Given the description of an element on the screen output the (x, y) to click on. 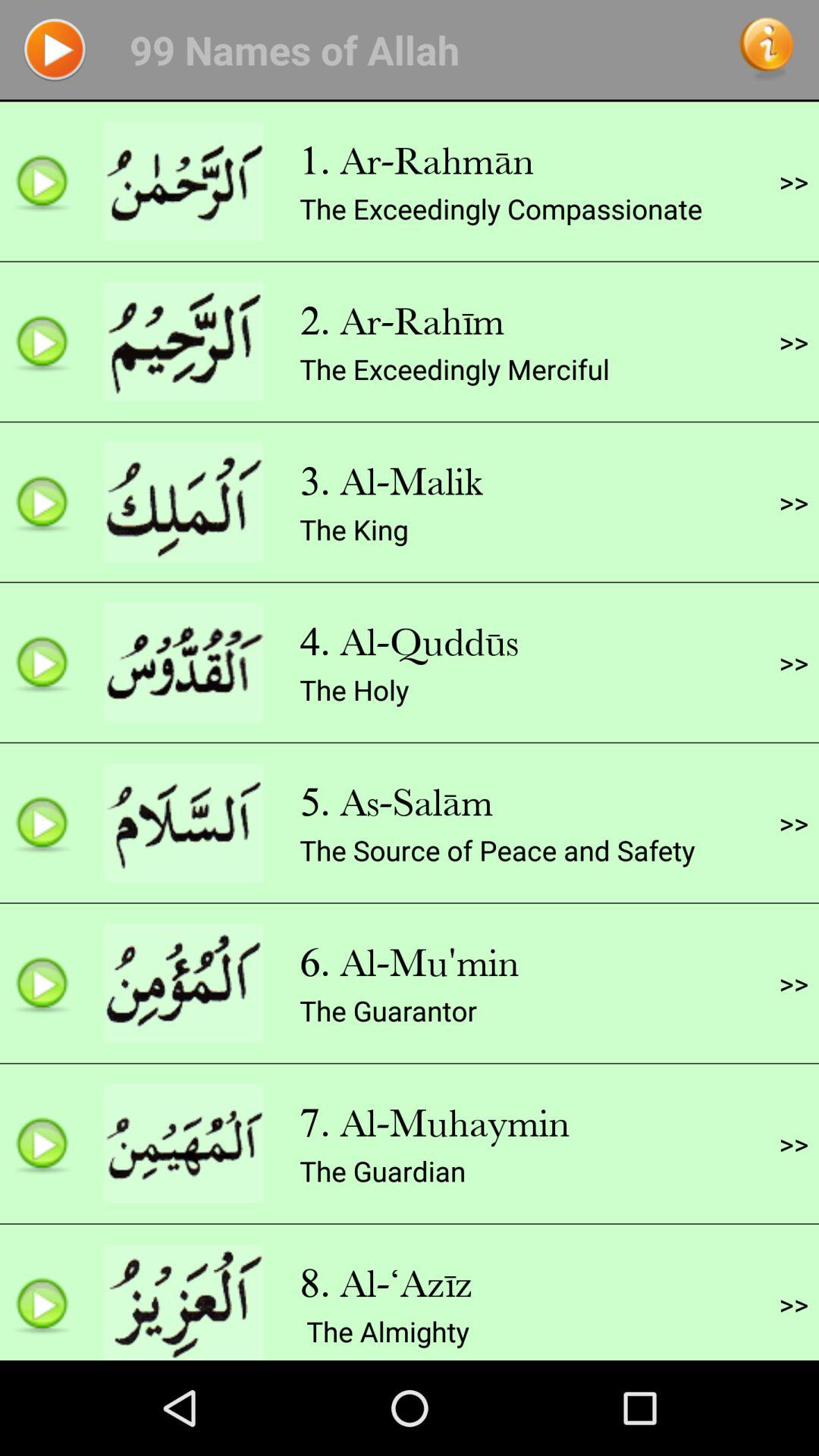
flip to >> item (793, 181)
